Given the description of an element on the screen output the (x, y) to click on. 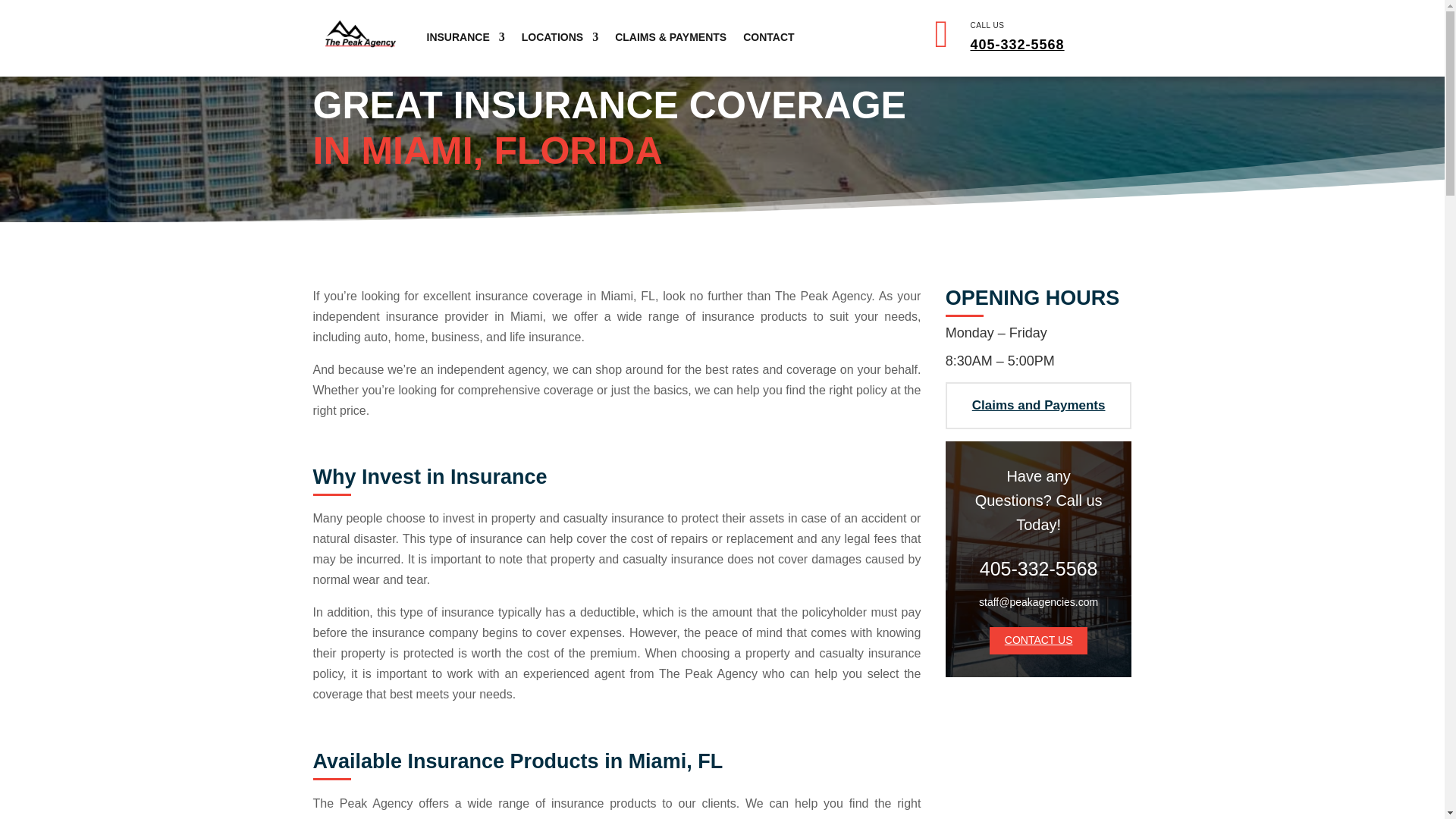
LOCATIONS (559, 37)
INSURANCE (464, 37)
